Given the description of an element on the screen output the (x, y) to click on. 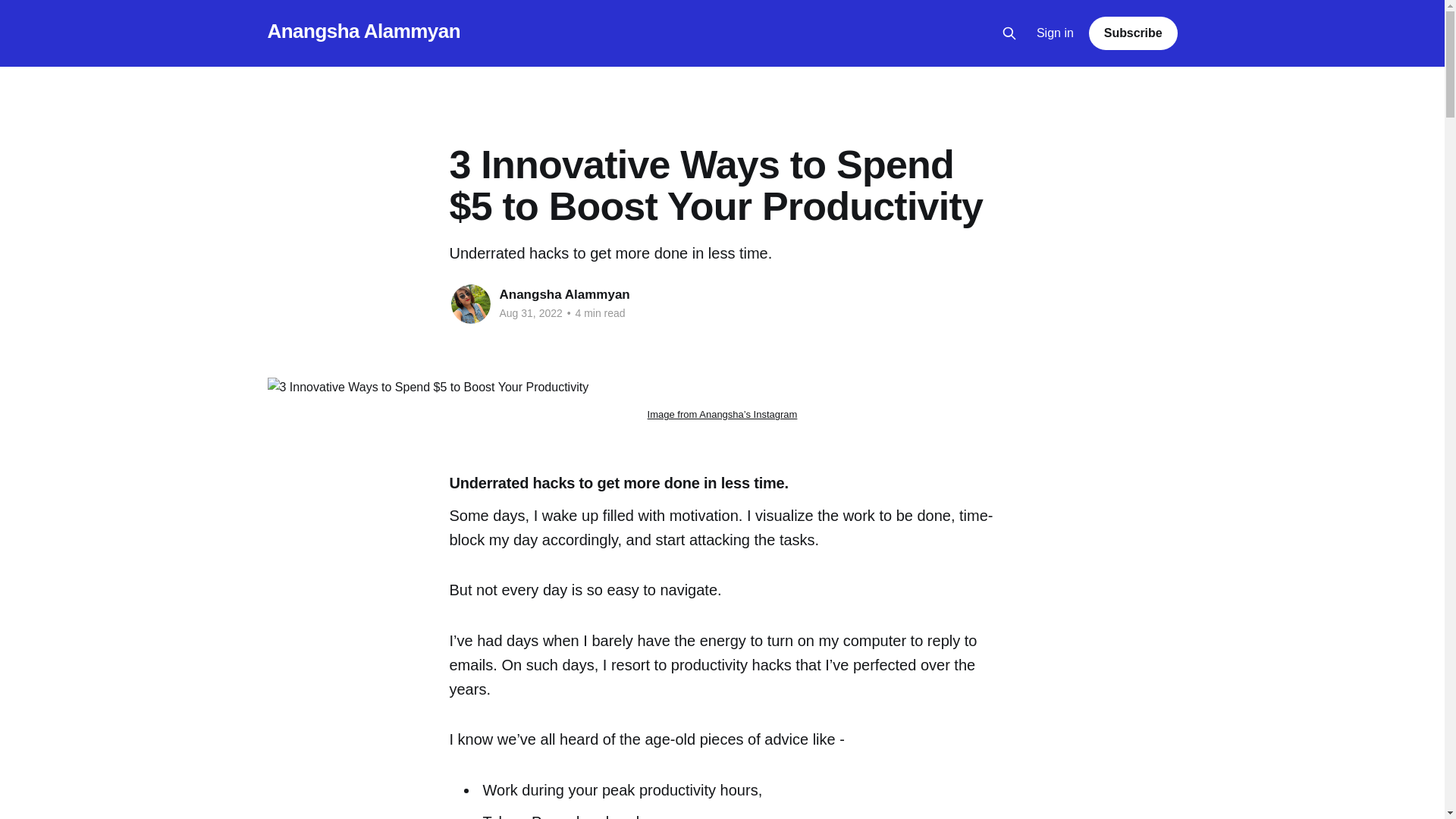
Anangsha Alammyan (563, 294)
Subscribe (1133, 32)
Sign in (1055, 33)
Anangsha Alammyan (363, 31)
